Given the description of an element on the screen output the (x, y) to click on. 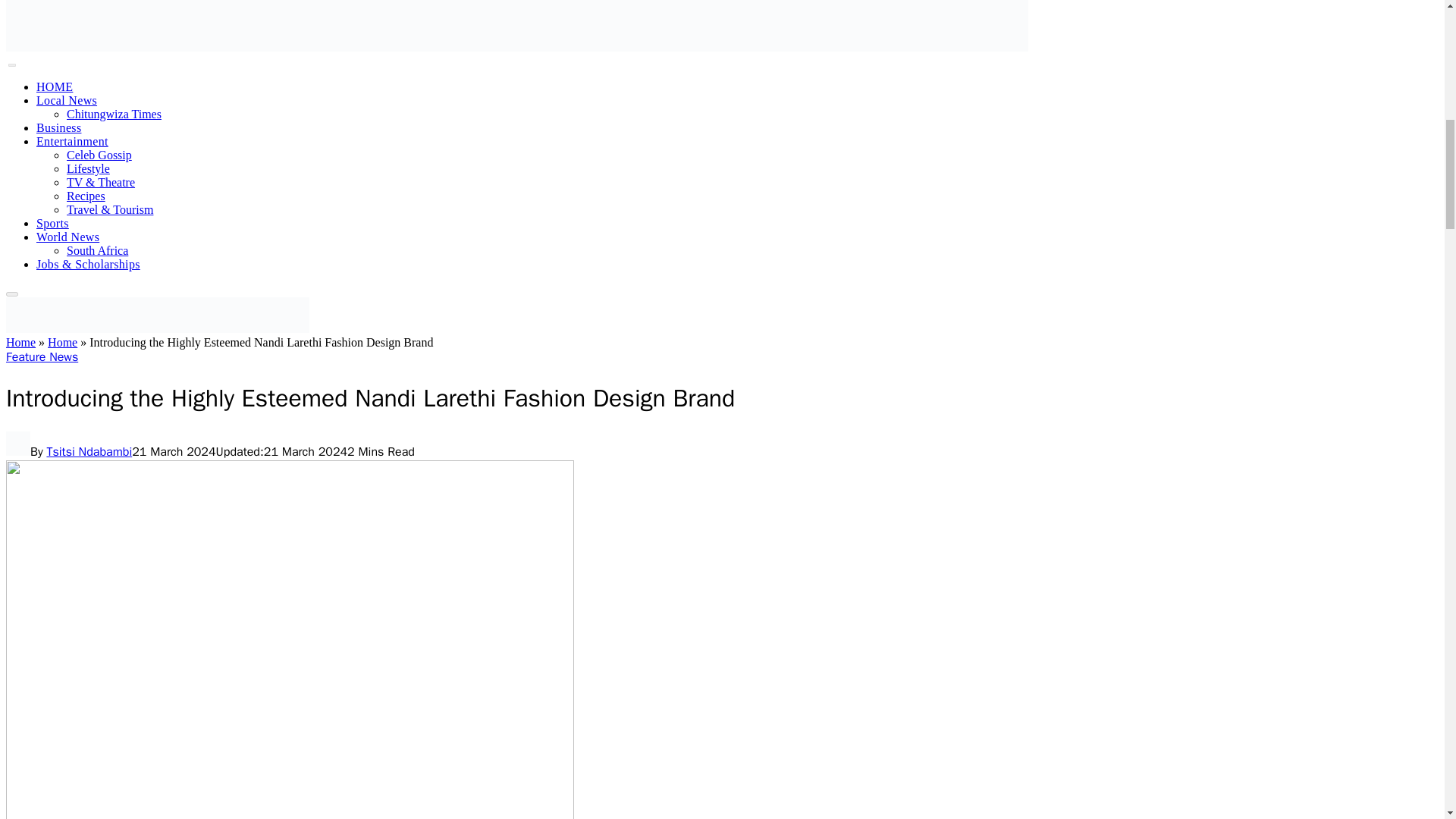
Local News (66, 100)
World News (67, 236)
Lifestyle (88, 168)
Celeb Gossip (99, 154)
Entertainment (71, 141)
Recipes (85, 195)
Posts by Tsitsi Ndabambi (89, 451)
Sports (52, 223)
Chitungwiza Times (113, 113)
